Given the description of an element on the screen output the (x, y) to click on. 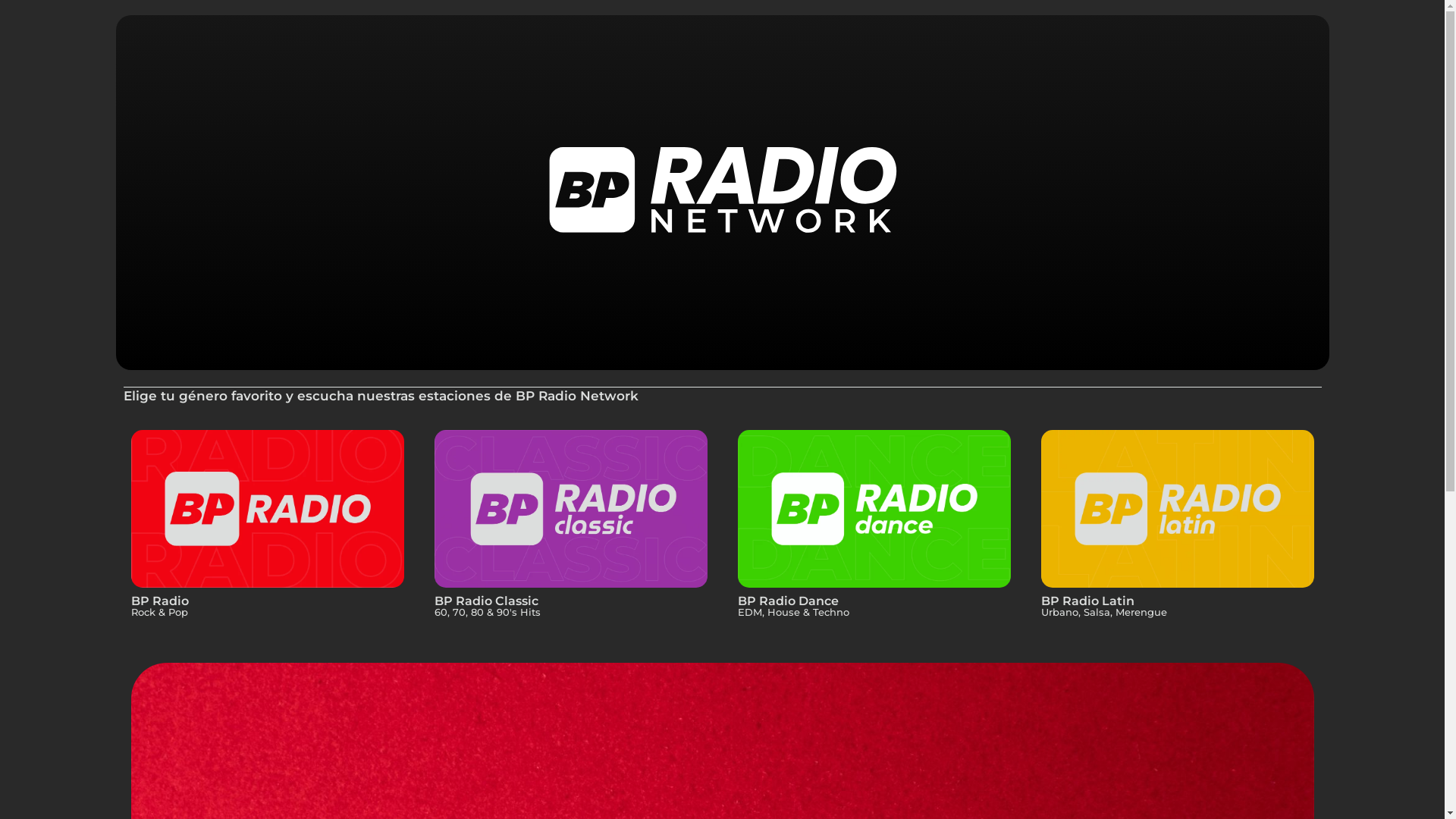
BP Radio Network 11 Element type: hover (266, 508)
BP Radio Network 13 Element type: hover (873, 508)
BP Radio Network 12 Element type: hover (569, 508)
BP Radio Network 14 Element type: hover (1176, 508)
